Given the description of an element on the screen output the (x, y) to click on. 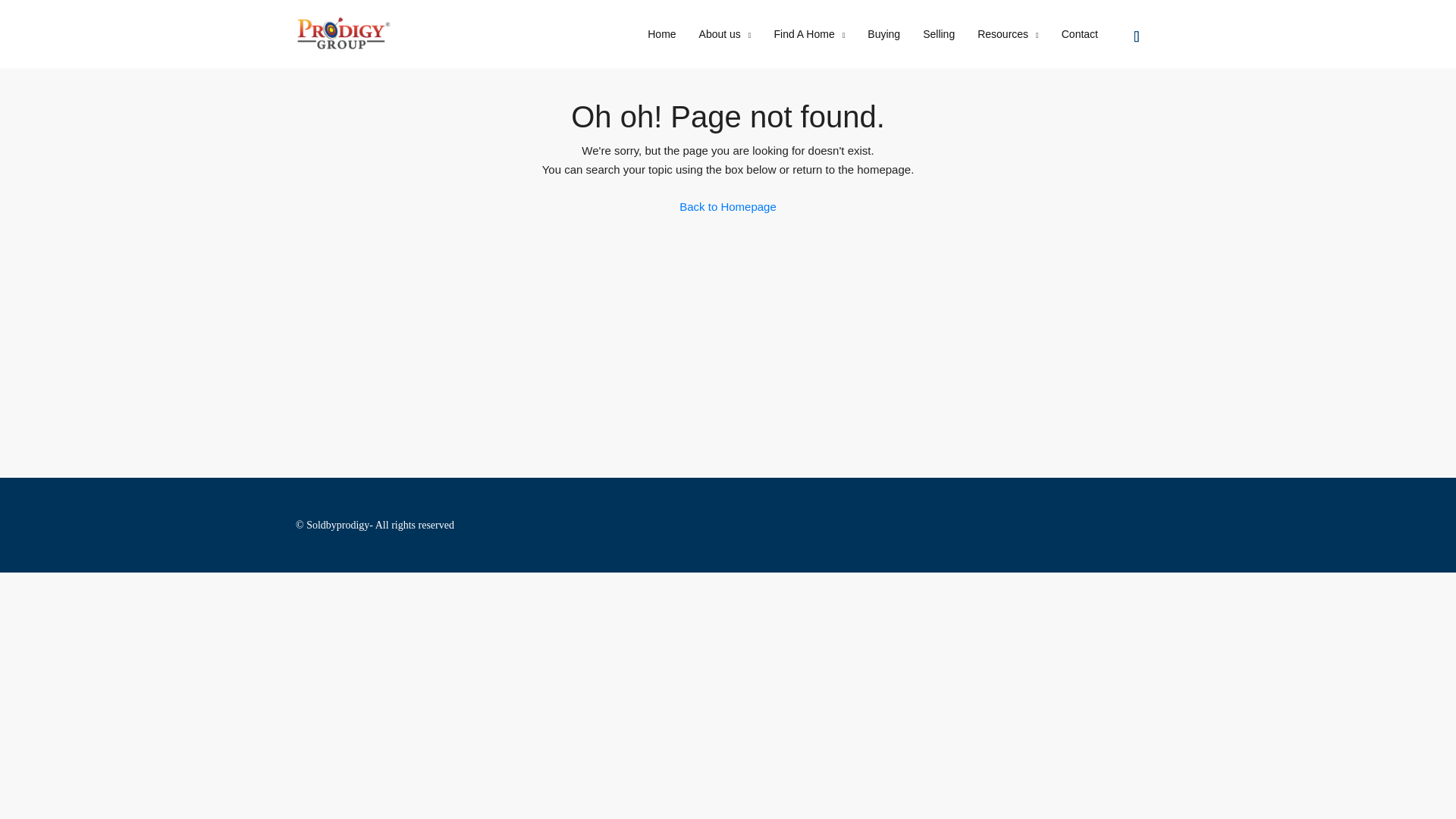
Contact (1079, 33)
About us (724, 34)
Buying (883, 33)
Home (661, 33)
Find A Home (809, 34)
Resources (1007, 34)
Selling (938, 33)
